Given the description of an element on the screen output the (x, y) to click on. 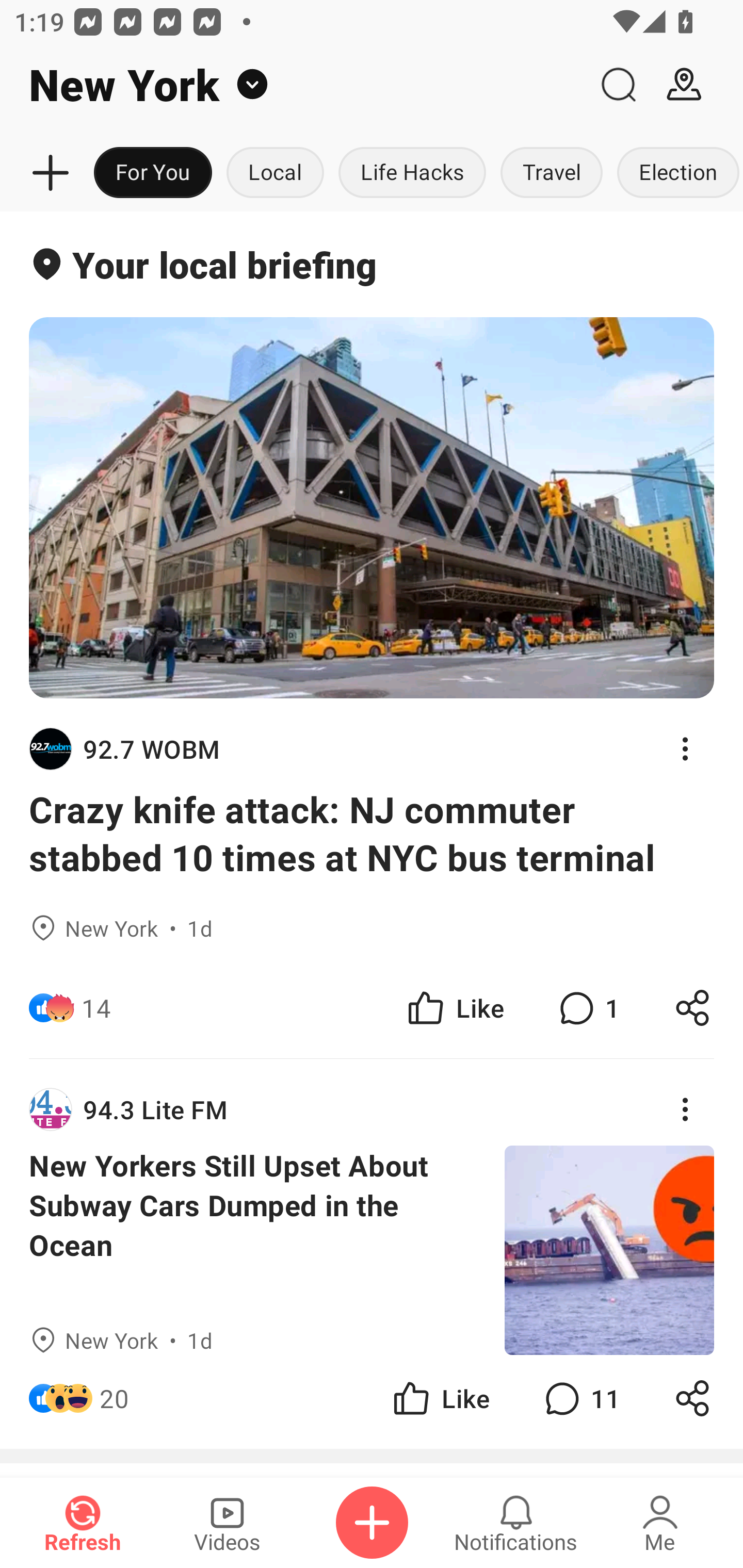
New York (292, 84)
For You (152, 172)
Local (275, 172)
Life Hacks (412, 172)
Travel (551, 172)
Election (676, 172)
14 (95, 1007)
Like (454, 1007)
1 (587, 1007)
20 (114, 1397)
Like (439, 1397)
11 (579, 1397)
Videos (227, 1522)
Notifications (516, 1522)
Me (659, 1522)
